Given the description of an element on the screen output the (x, y) to click on. 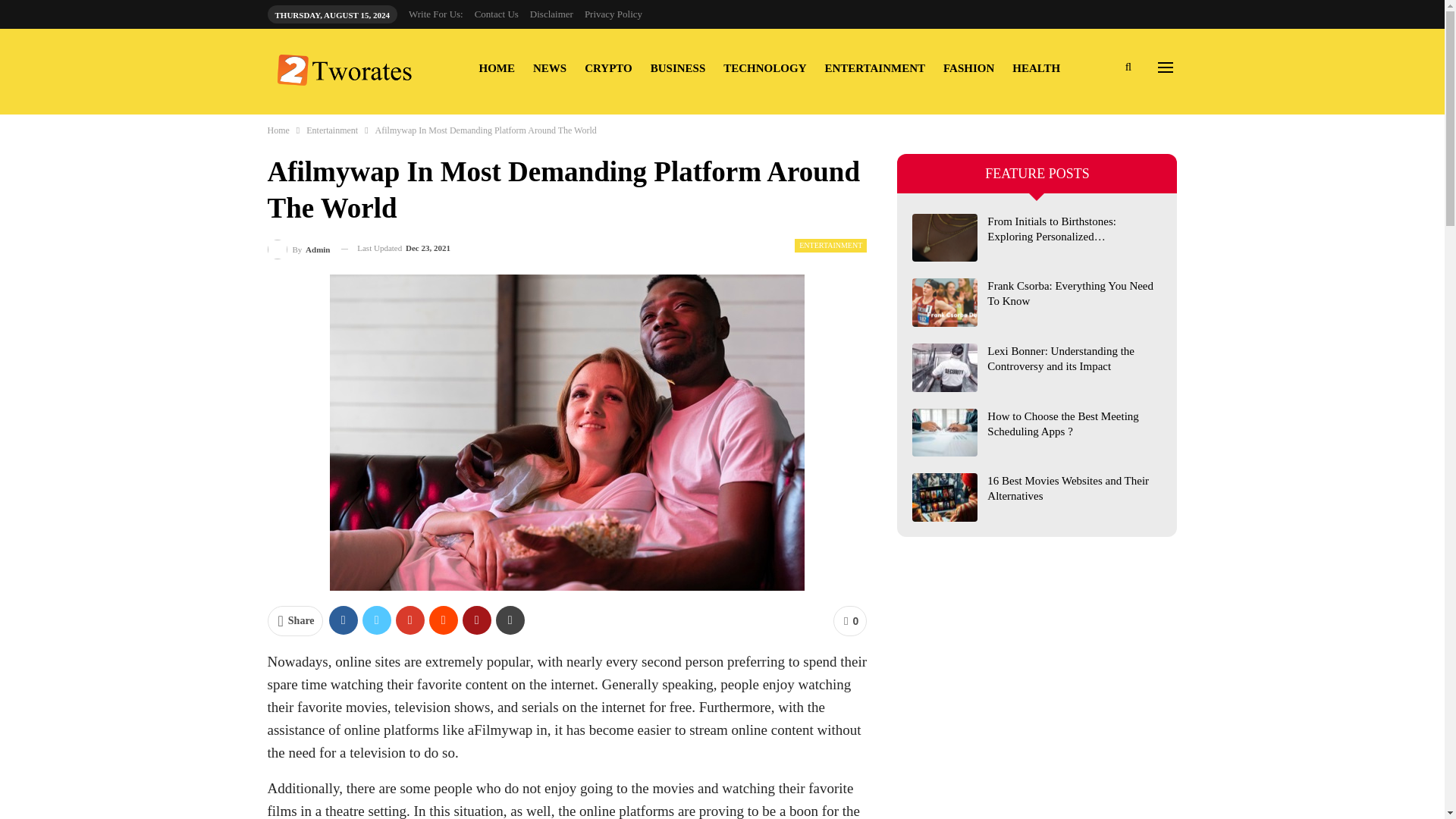
Home (277, 130)
By Admin (298, 248)
Entertainment (331, 130)
Browse Author Articles (298, 248)
Privacy Policy (613, 13)
Contact Us (496, 13)
ENTERTAINMENT (830, 245)
TECHNOLOGY (763, 68)
0 (849, 621)
FASHION (967, 68)
